Given the description of an element on the screen output the (x, y) to click on. 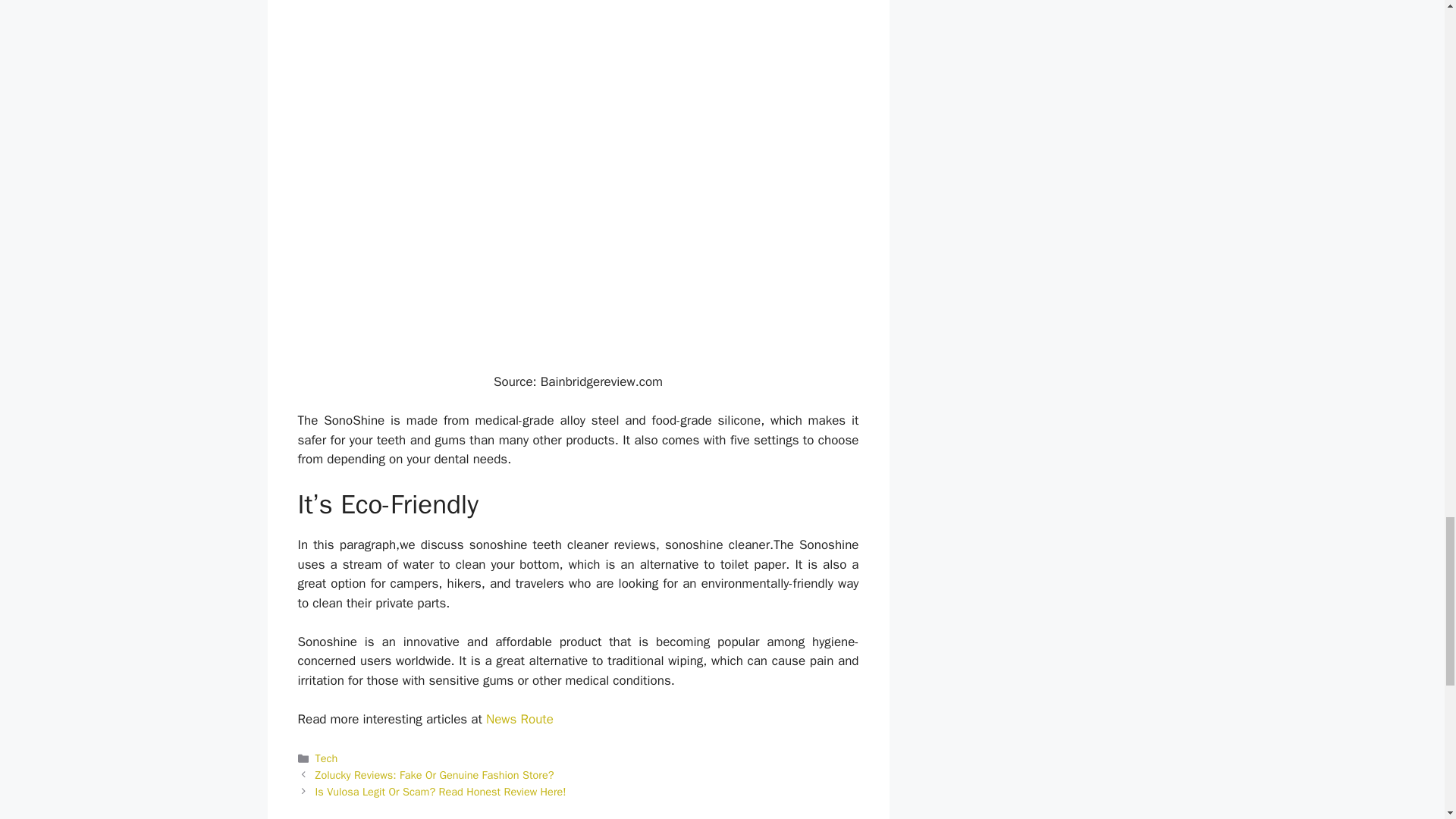
News Route (519, 719)
Zolucky Reviews: Fake Or Genuine Fashion Store? (434, 775)
Tech (326, 757)
Is Vulosa Legit Or Scam? Read Honest Review Here! (440, 791)
